Given the description of an element on the screen output the (x, y) to click on. 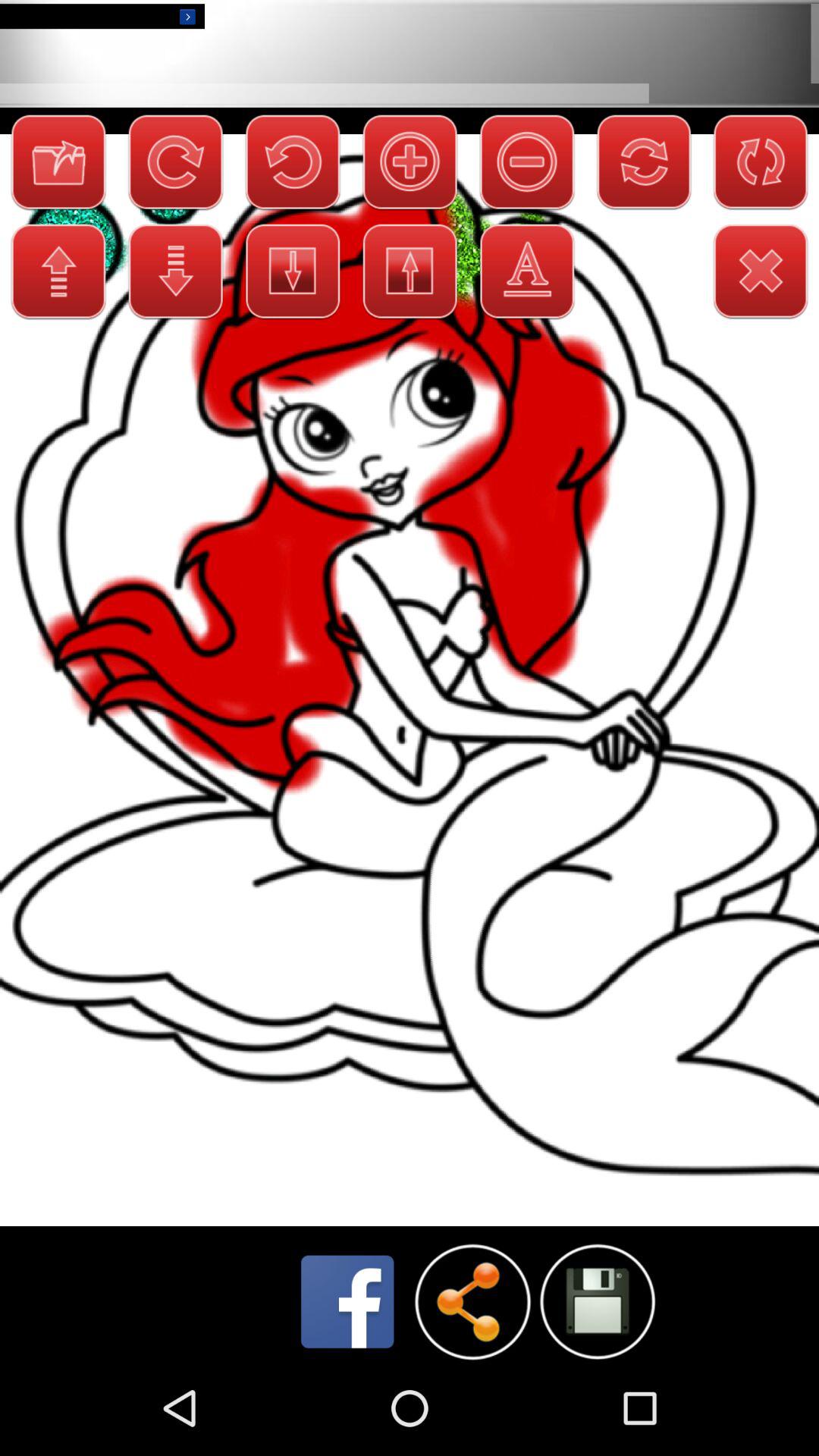
share on facebook (347, 1301)
